Given the description of an element on the screen output the (x, y) to click on. 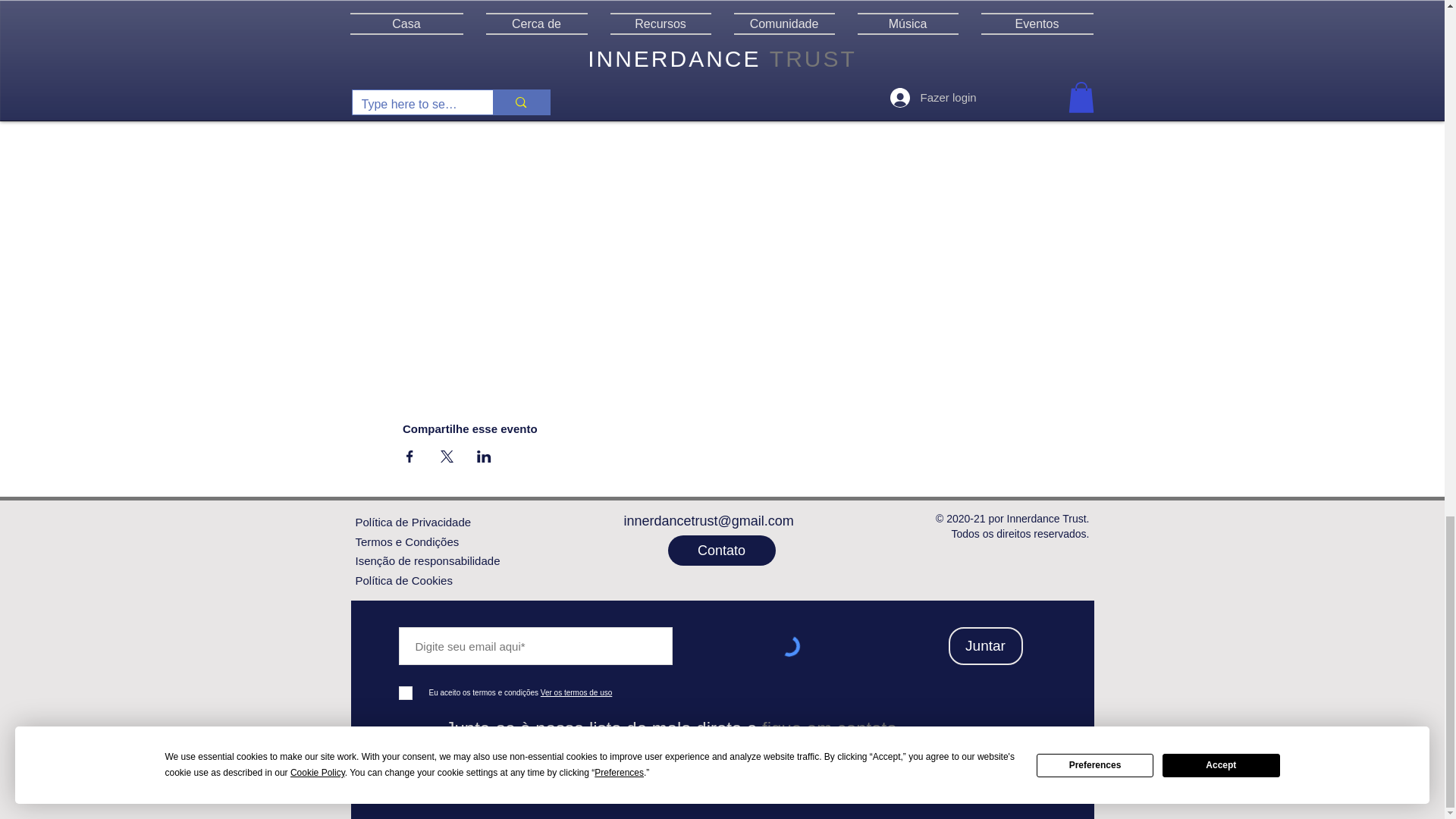
Checkout (914, 58)
